Given the description of an element on the screen output the (x, y) to click on. 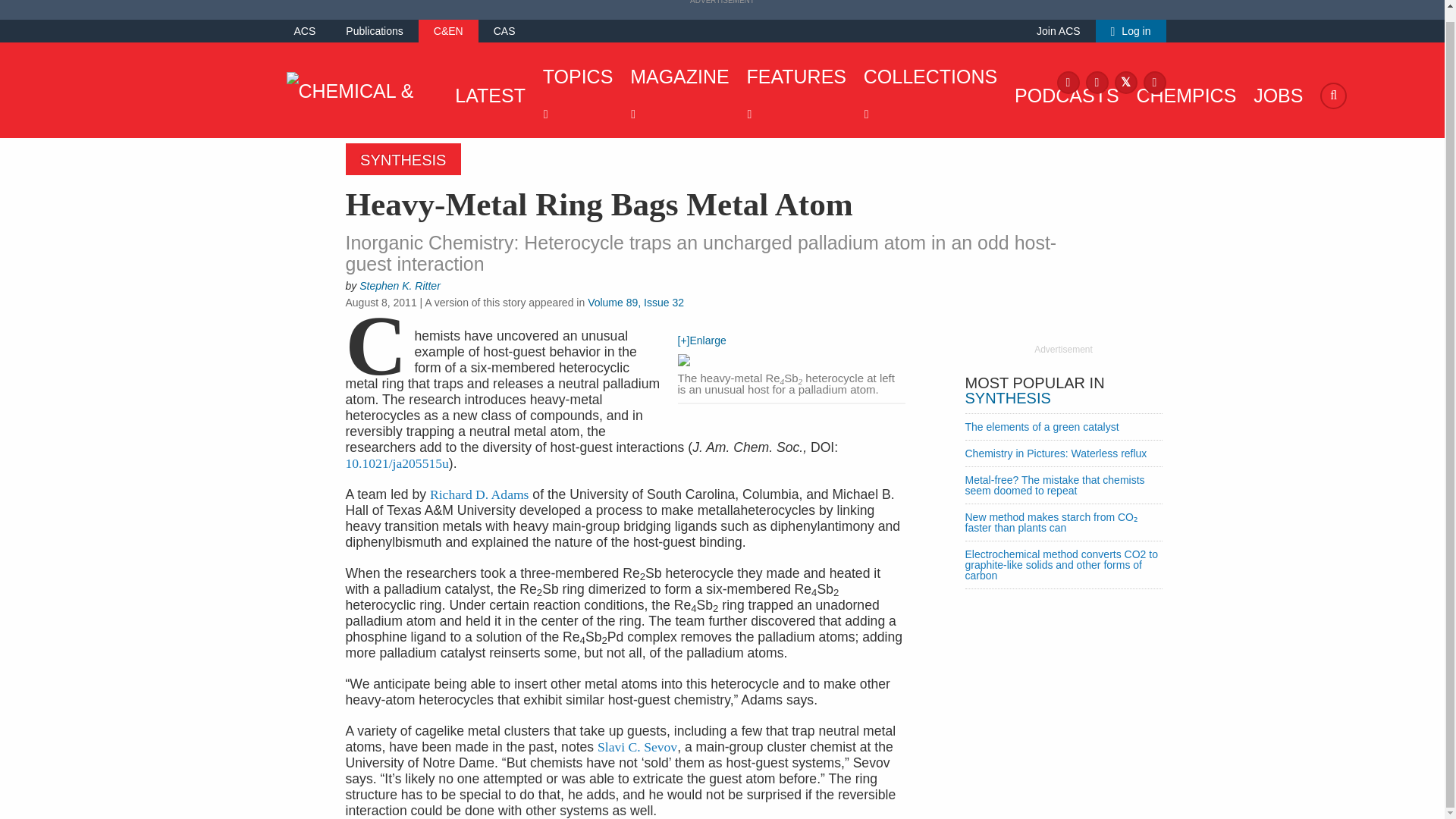
Facebook (1068, 81)
LATEST (485, 95)
Instagram (1097, 81)
Join ACS (1058, 30)
X (1126, 81)
CAS (504, 30)
Publications (374, 30)
Log in (1130, 30)
TOPICS (573, 95)
LinkedIn (1154, 81)
